Given the description of an element on the screen output the (x, y) to click on. 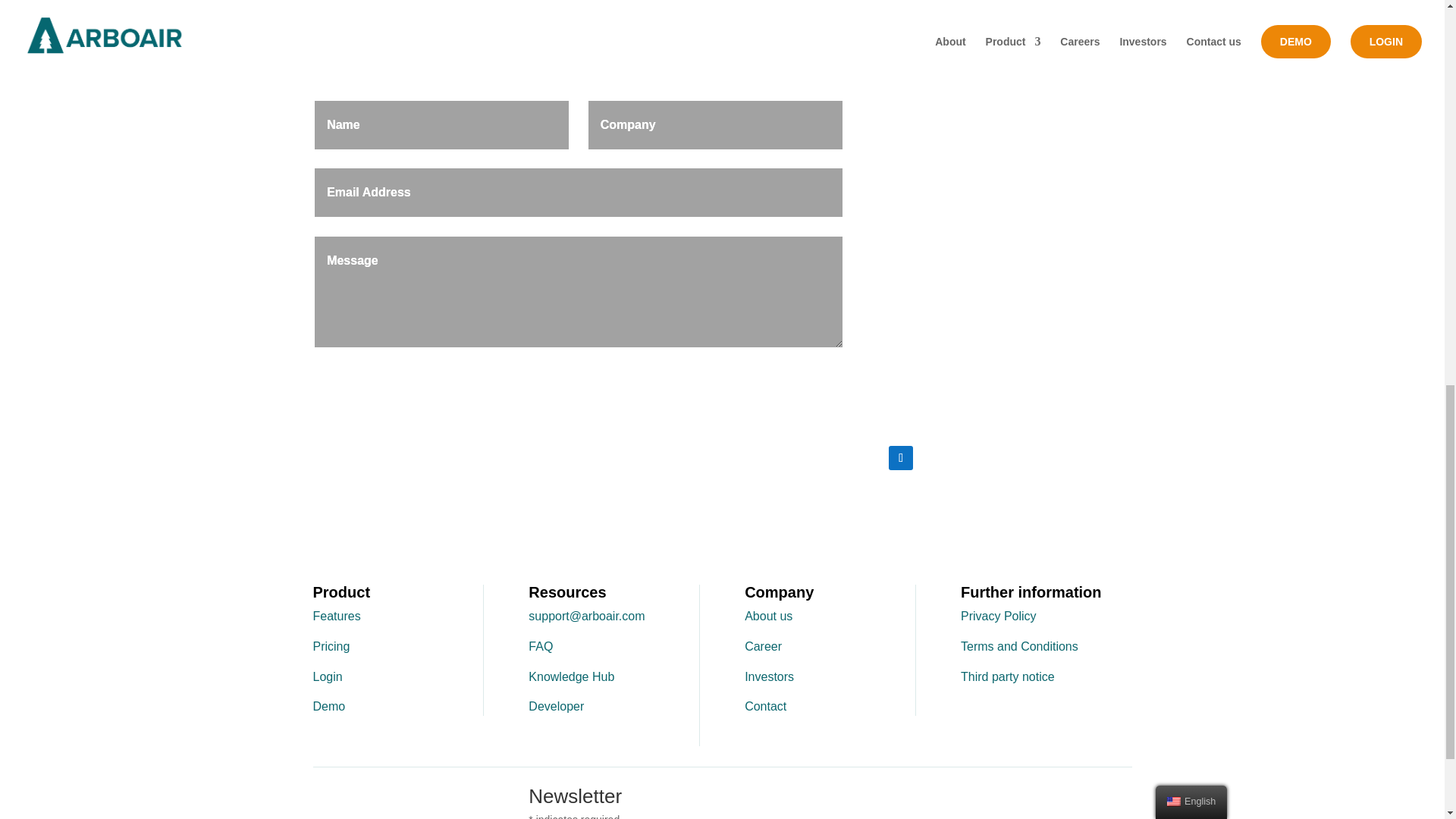
Career (762, 645)
Contact (765, 706)
About us (768, 615)
Pricing (331, 645)
FAQ (540, 645)
Privacy Policy (998, 615)
Third party notice (1007, 676)
Login (327, 676)
Knowledge Hub (571, 676)
SEND (813, 370)
Developer (555, 706)
Investors (768, 676)
Features (336, 615)
Follow on LinkedIn (900, 457)
Terms and Conditions (1019, 645)
